Given the description of an element on the screen output the (x, y) to click on. 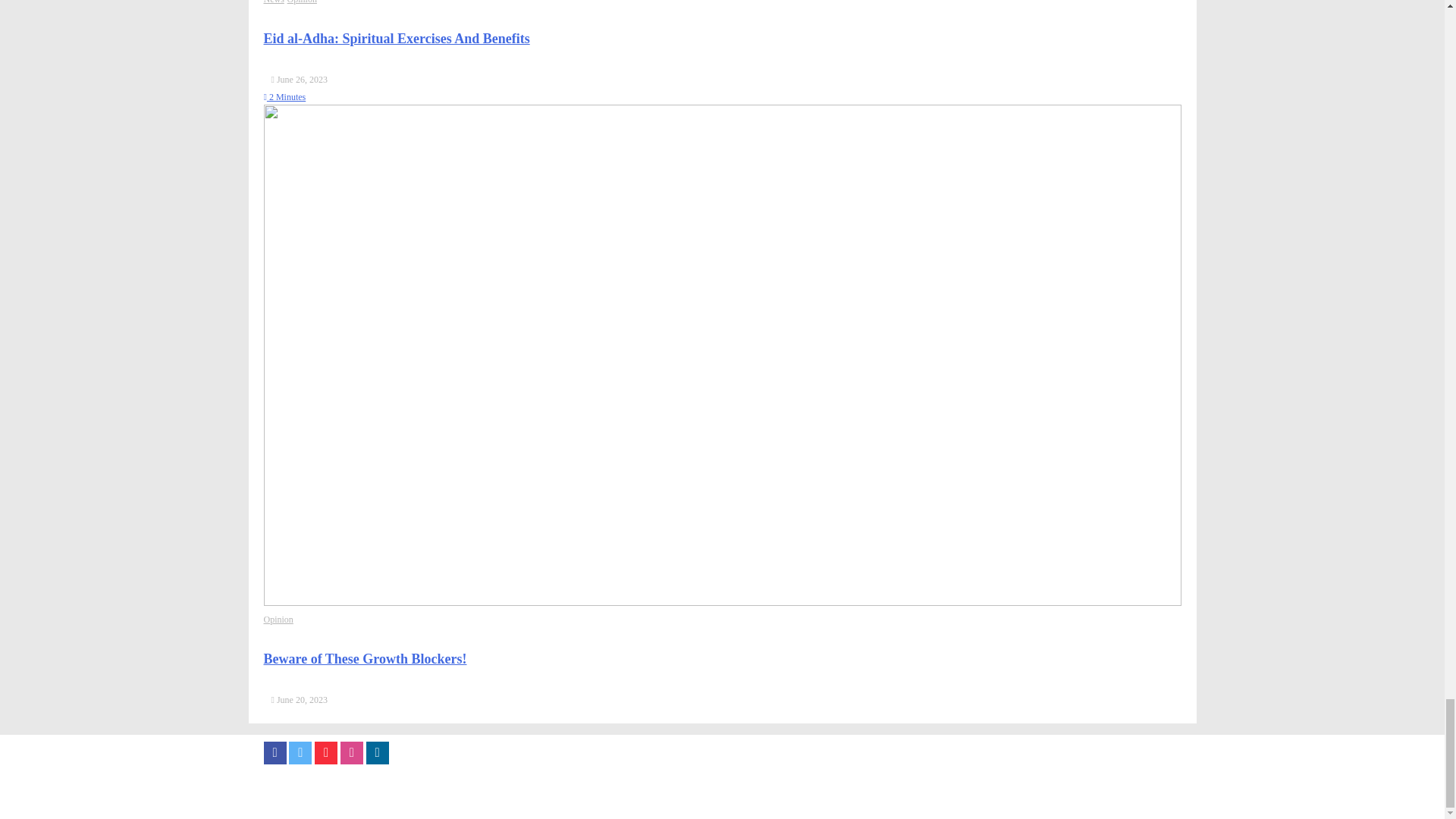
Estimated Reading Time of Article (284, 96)
